Given the description of an element on the screen output the (x, y) to click on. 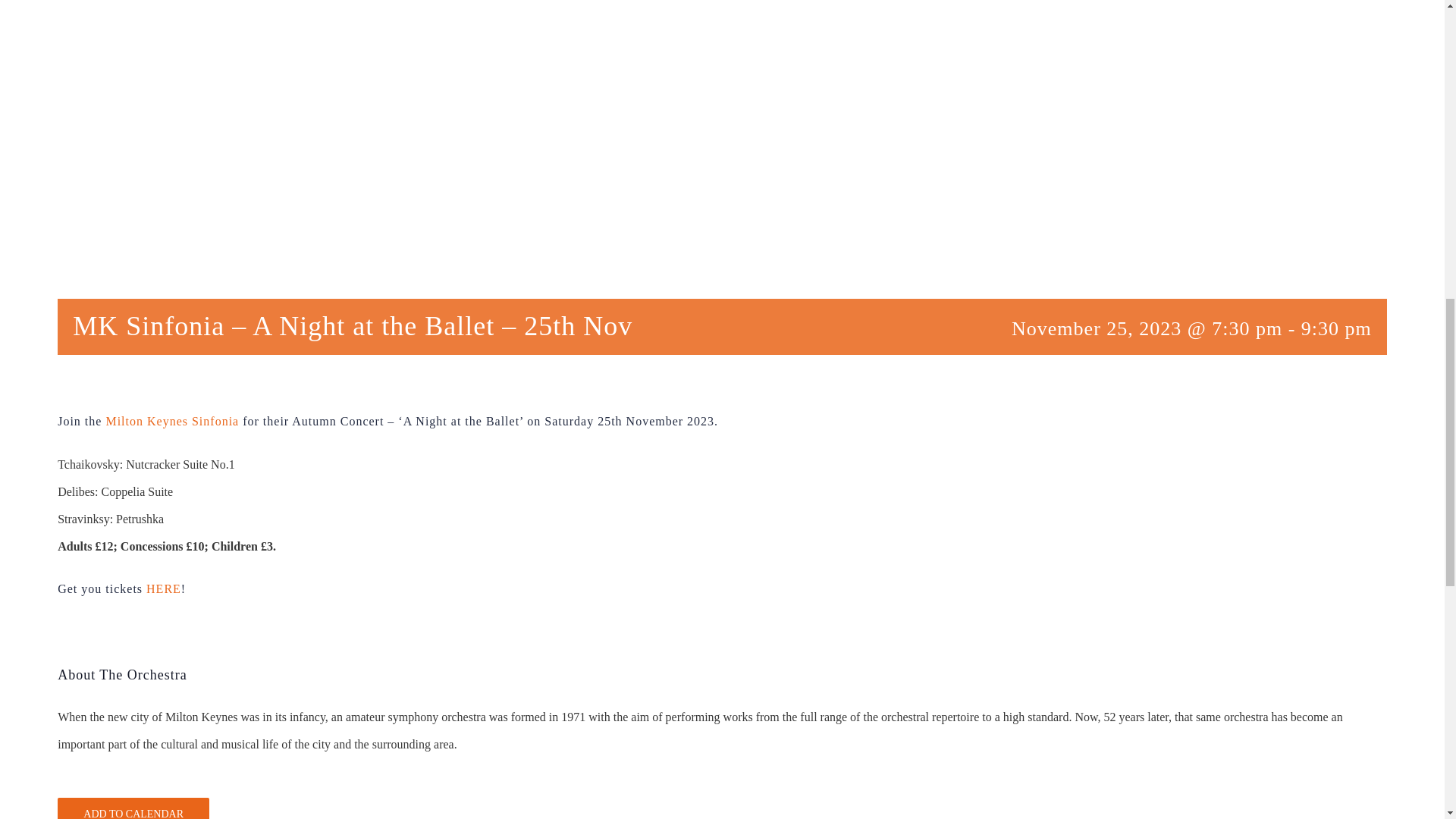
HERE (163, 588)
Milton Keynes Sinfonia (171, 420)
ADD TO CALENDAR (132, 813)
